Given the description of an element on the screen output the (x, y) to click on. 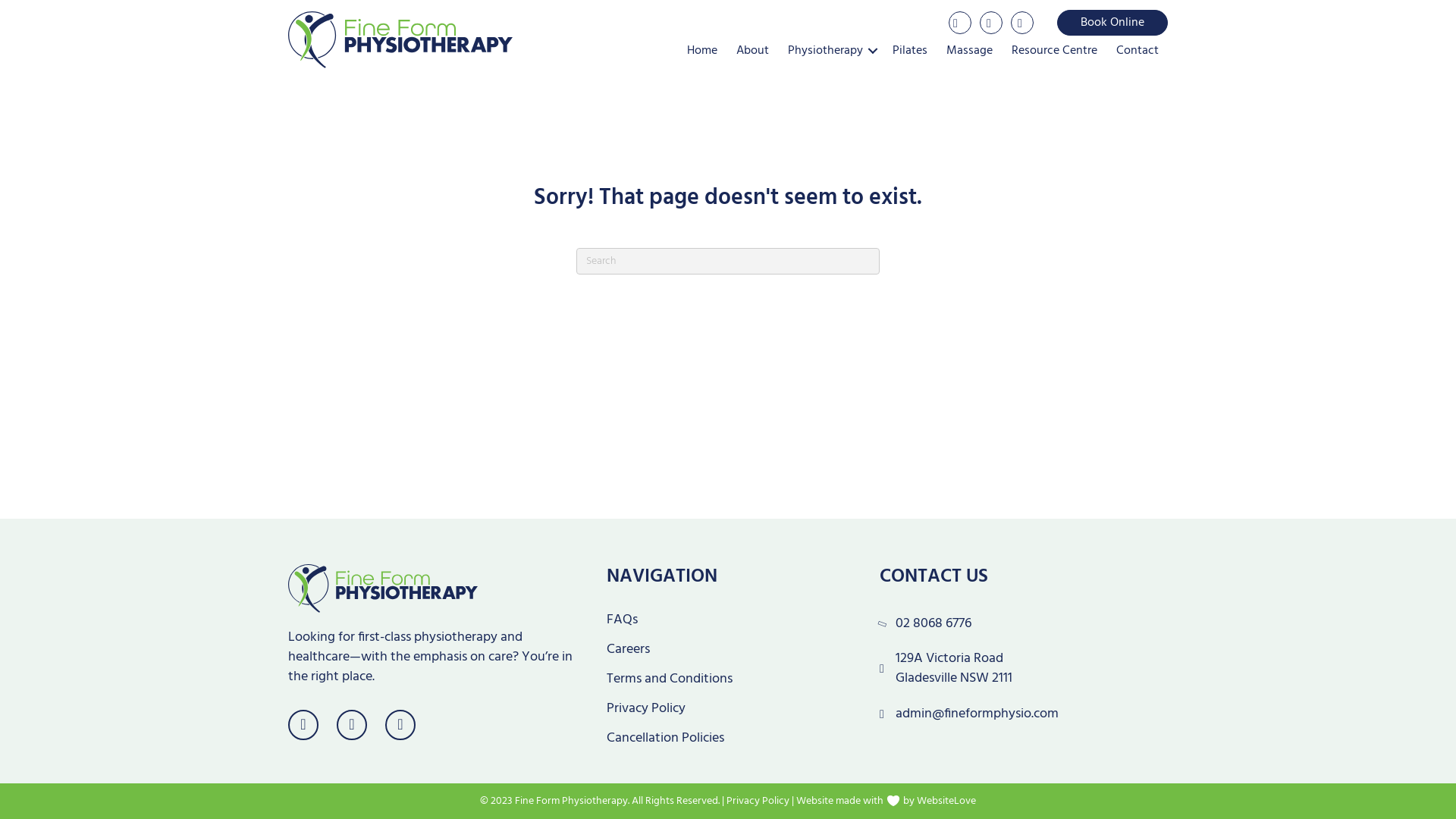
Home Element type: text (701, 50)
About Element type: text (752, 50)
admin@fineformphysio.com Element type: text (976, 713)
Contact Element type: text (1137, 50)
FAQs Element type: text (724, 619)
Book Online Element type: text (1112, 22)
Massage Element type: text (969, 50)
WebsiteLove Element type: text (945, 800)
Privacy Policy Element type: text (757, 800)
Terms and Conditions Element type: text (724, 679)
Careers Element type: text (724, 649)
Fine Form Physio Logo Element type: hover (382, 588)
Pilates Element type: text (909, 50)
Fine Form Physio Logo Element type: hover (400, 39)
Resource Centre Element type: text (1054, 50)
Physiotherapy Element type: text (830, 50)
Type and press Enter to search. Element type: hover (727, 260)
02 8068 6776 Element type: text (933, 623)
Cancellation Policies Element type: text (724, 738)
Privacy Policy Element type: text (724, 708)
